Given the description of an element on the screen output the (x, y) to click on. 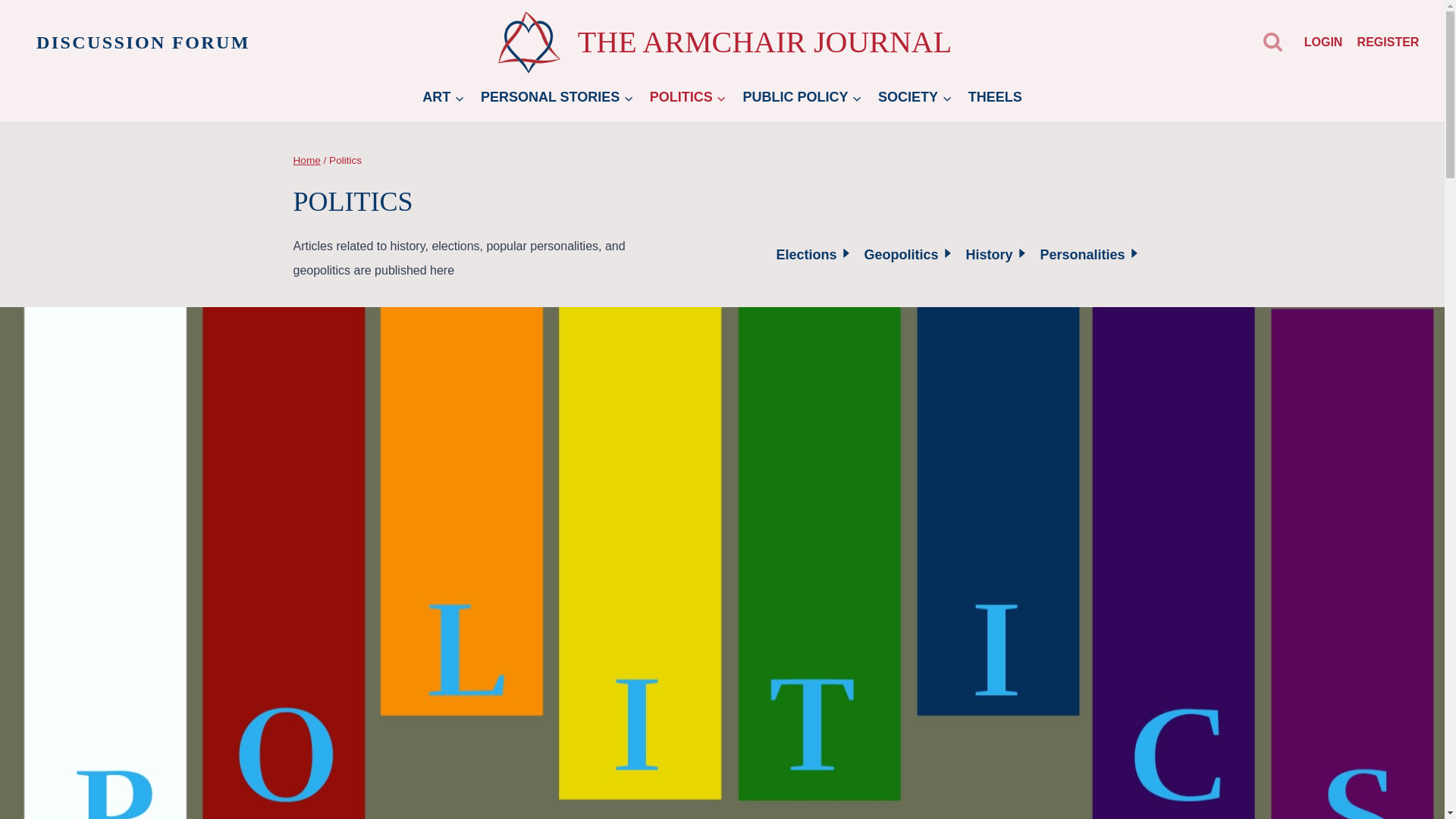
Elections (814, 254)
PERSONAL STORIES (556, 97)
DISCUSSION FORUM (142, 42)
REGISTER (1387, 41)
LOGIN (1323, 41)
THEELS (994, 97)
SOCIETY (914, 97)
POLITICS (688, 97)
PUBLIC POLICY (802, 97)
Home (306, 160)
Personalities (1090, 254)
History (996, 254)
THE ARMCHAIR JOURNAL (722, 41)
Geopolitics (909, 254)
ART (442, 97)
